Given the description of an element on the screen output the (x, y) to click on. 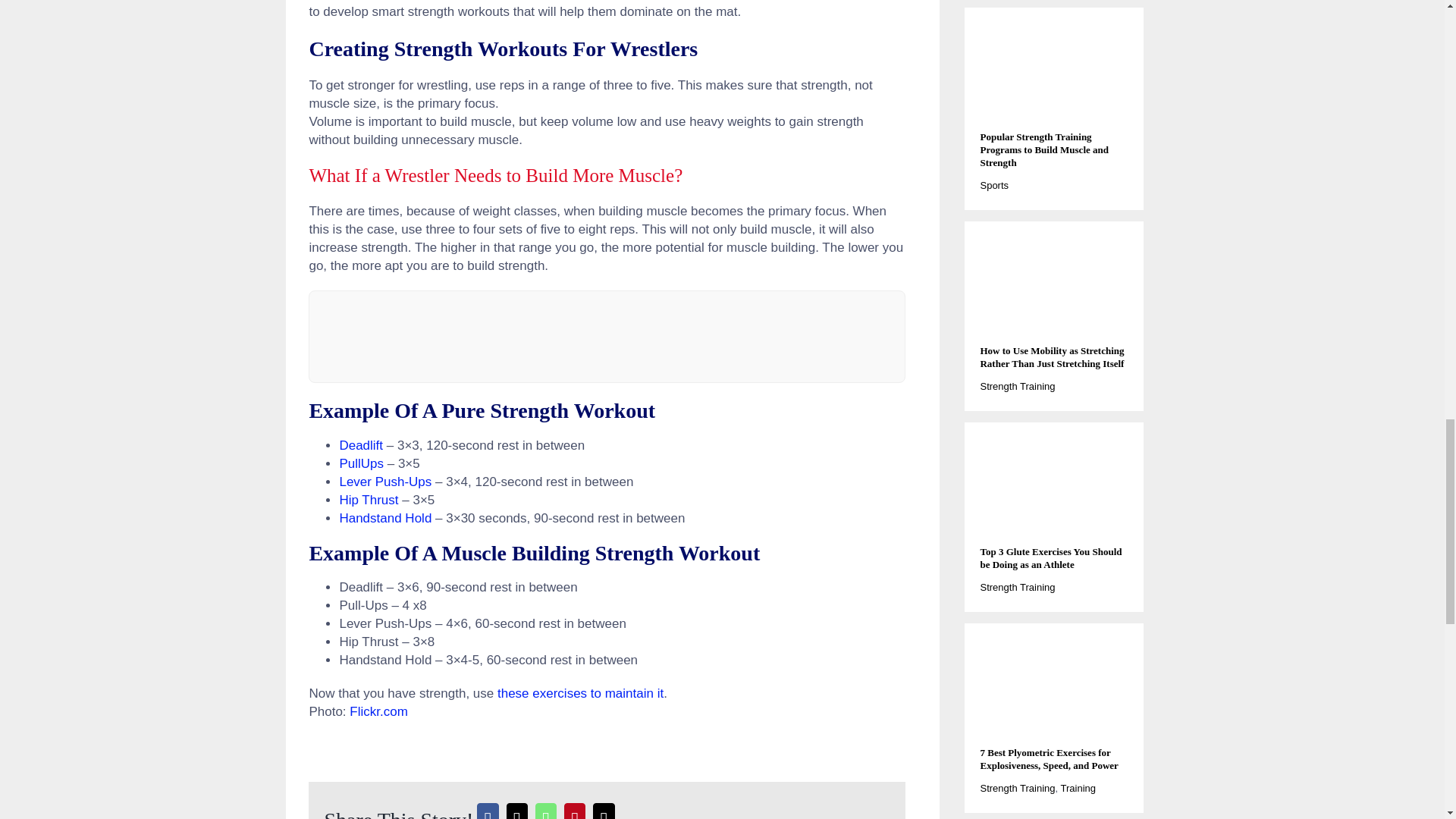
X (516, 809)
Facebook (487, 809)
WhatsApp (545, 809)
Pinterest (574, 809)
